Given the description of an element on the screen output the (x, y) to click on. 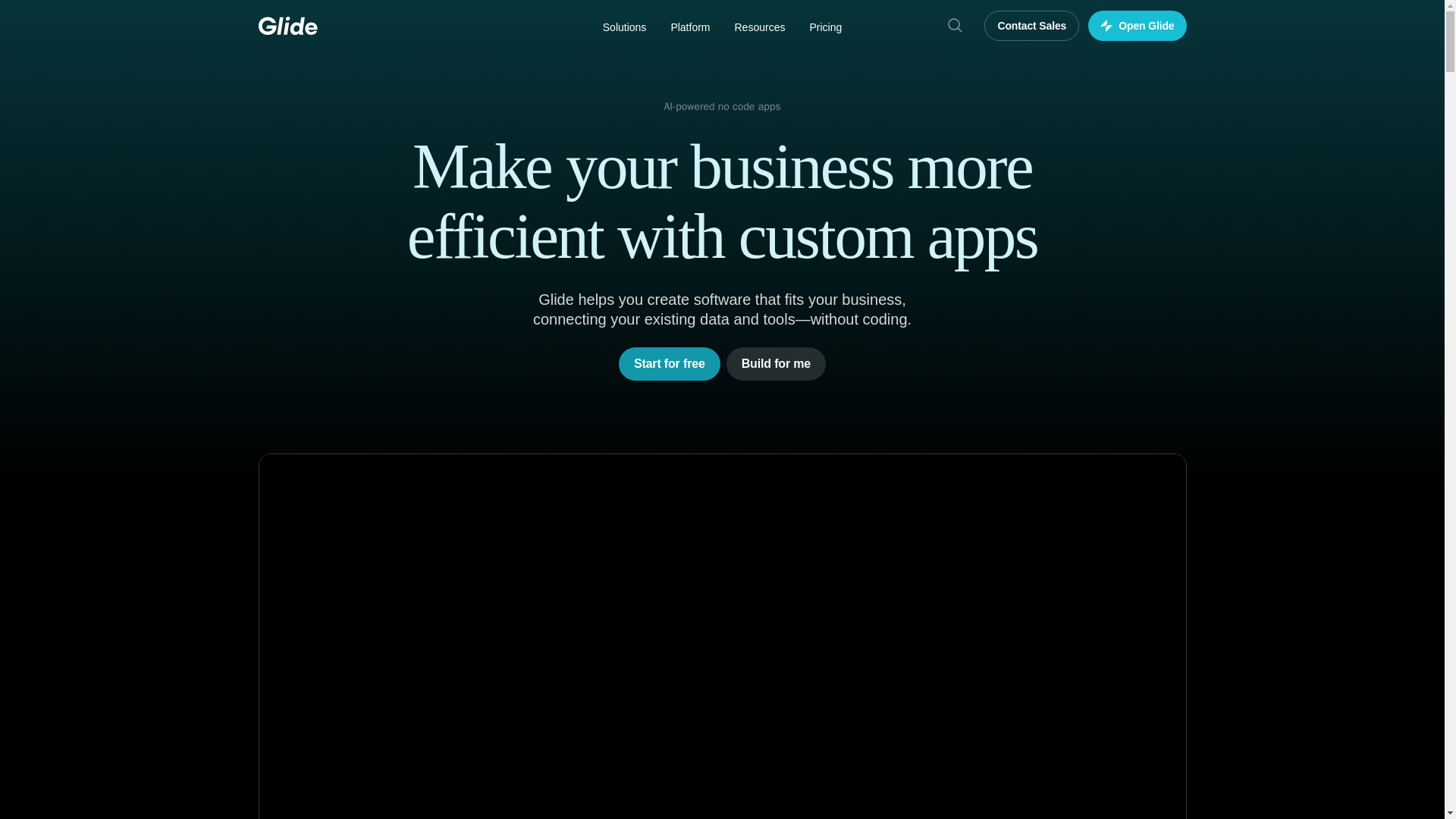
Open Glide (1136, 25)
Pricing (824, 27)
Build for me (775, 363)
Start for free (669, 363)
Solutions (625, 27)
Platform (690, 27)
Contact Sales (1031, 25)
Glide (287, 25)
Resources (759, 27)
